Given the description of an element on the screen output the (x, y) to click on. 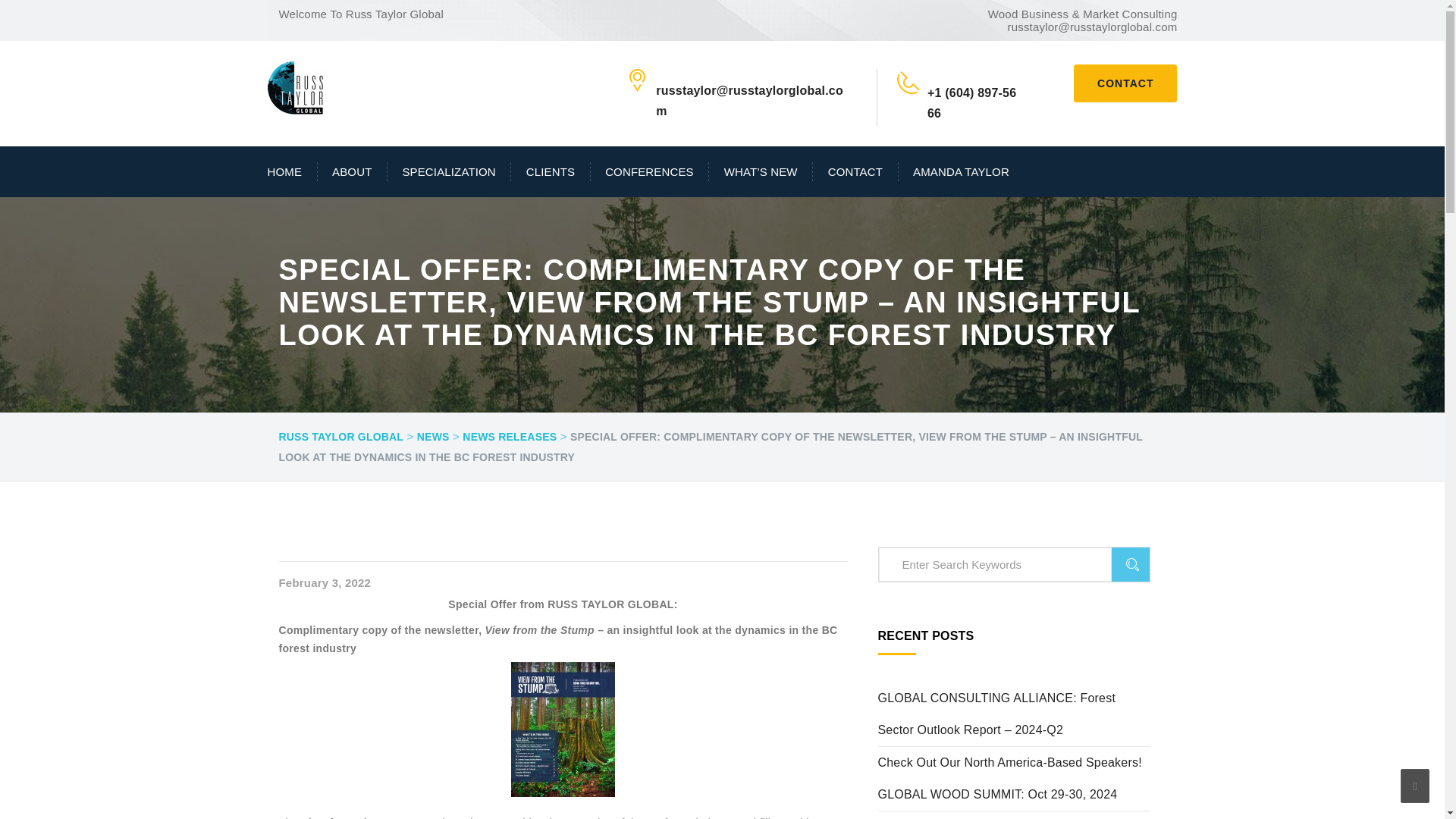
CONFERENCES (650, 171)
Go to News. (432, 436)
CONTACT (1125, 83)
AMANDA TAYLOR (953, 171)
NEWS RELEASES (509, 436)
Russ Taylor Global (296, 84)
Go to the News Releases Category archives. (509, 436)
NEWS (432, 436)
Go to Russ Taylor Global. (341, 436)
SPECIALIZATION (449, 171)
CLIENTS (550, 171)
RUSS TAYLOR GLOBAL (341, 436)
HOME (291, 171)
CONTACT (855, 171)
